Given the description of an element on the screen output the (x, y) to click on. 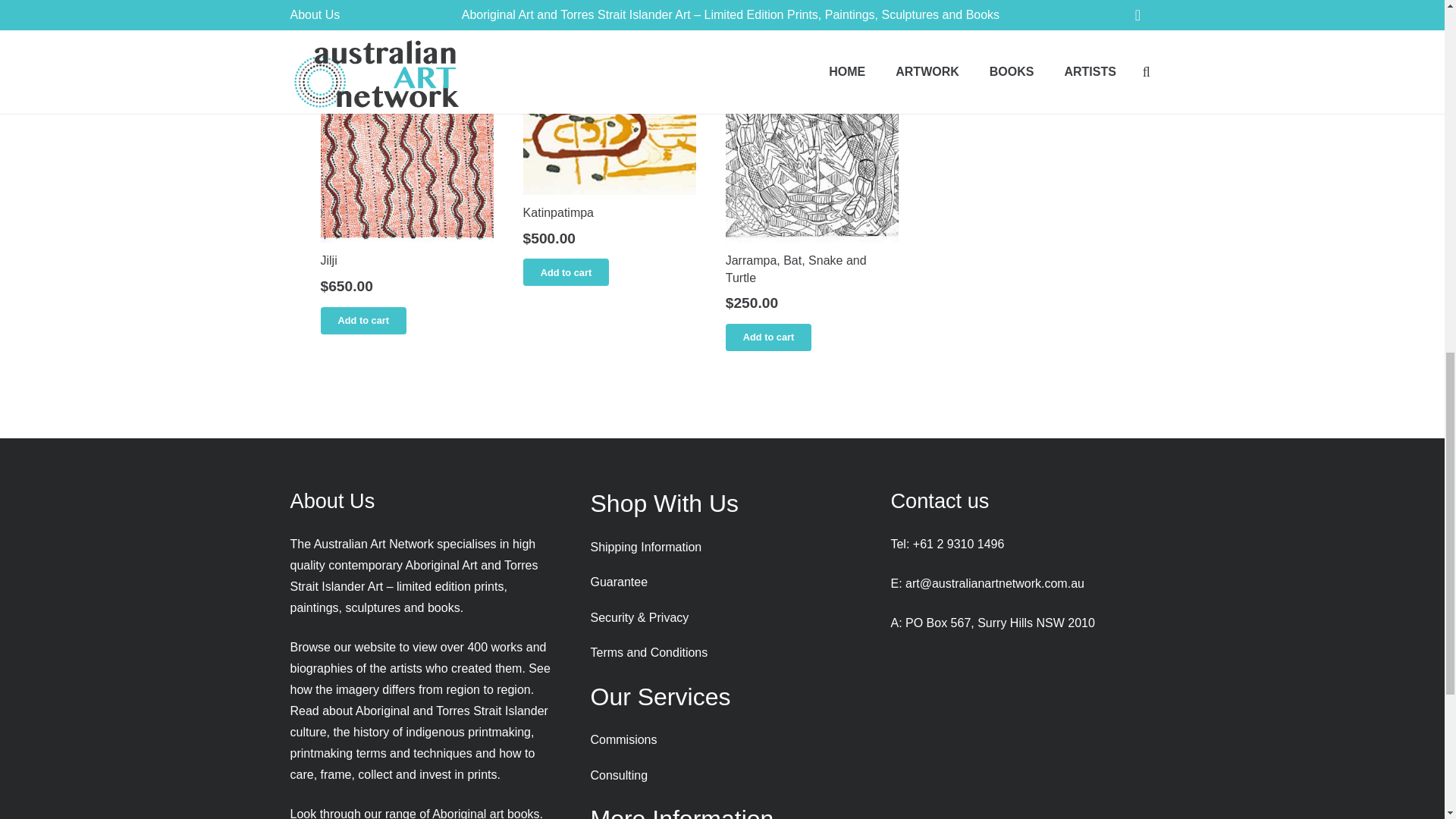
Add to cart (363, 320)
Consulting (618, 775)
Add to cart (768, 337)
Commisions (622, 739)
Back to top (1413, 30)
Shipping Information (645, 546)
Add to cart (566, 271)
Guarantee (618, 581)
Terms and Conditions (648, 652)
